Given the description of an element on the screen output the (x, y) to click on. 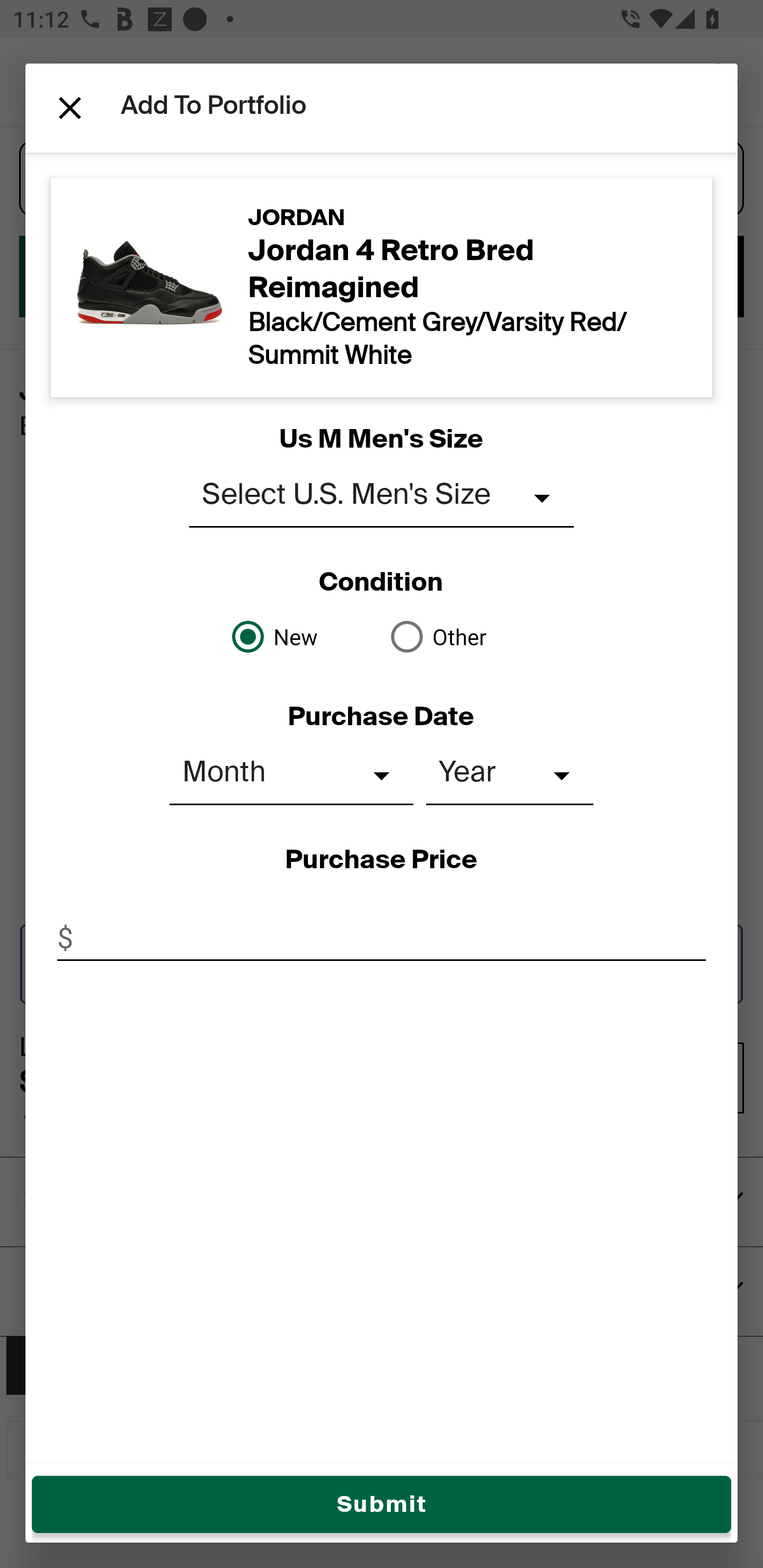
Select U.S. Men's Size (381, 498)
New (301, 636)
Other (460, 636)
Month (291, 775)
Year (509, 775)
$ (381, 937)
Submit (381, 1504)
